Given the description of an element on the screen output the (x, y) to click on. 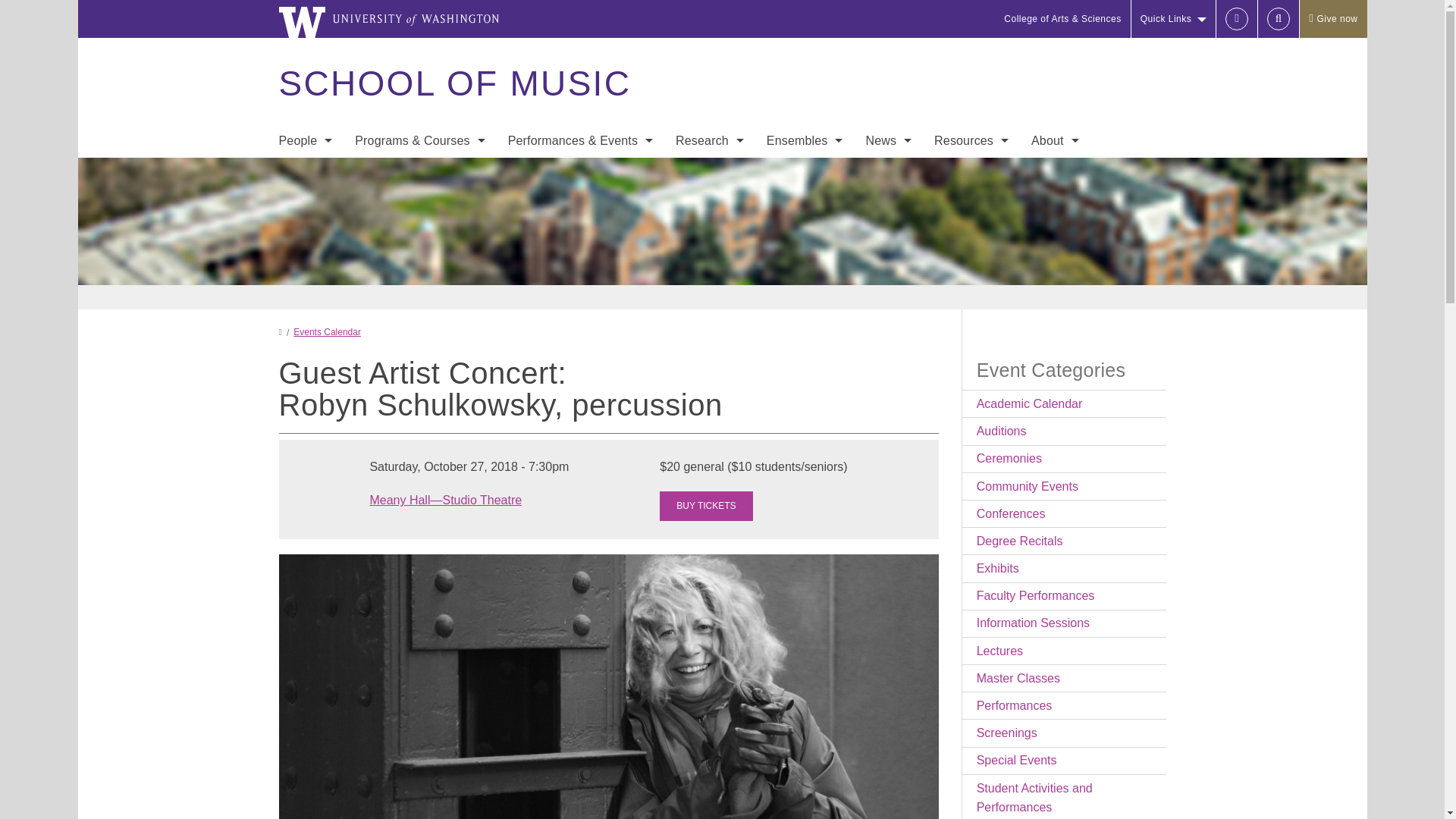
School of Music Home (454, 83)
People (304, 140)
SCHOOL OF MUSIC (454, 83)
Graduate Students (304, 233)
Areas of Study (419, 173)
Staff (304, 203)
Hire a Musician (304, 263)
 Give now (1332, 18)
Alumni (304, 294)
Quick Links (1173, 18)
